Given the description of an element on the screen output the (x, y) to click on. 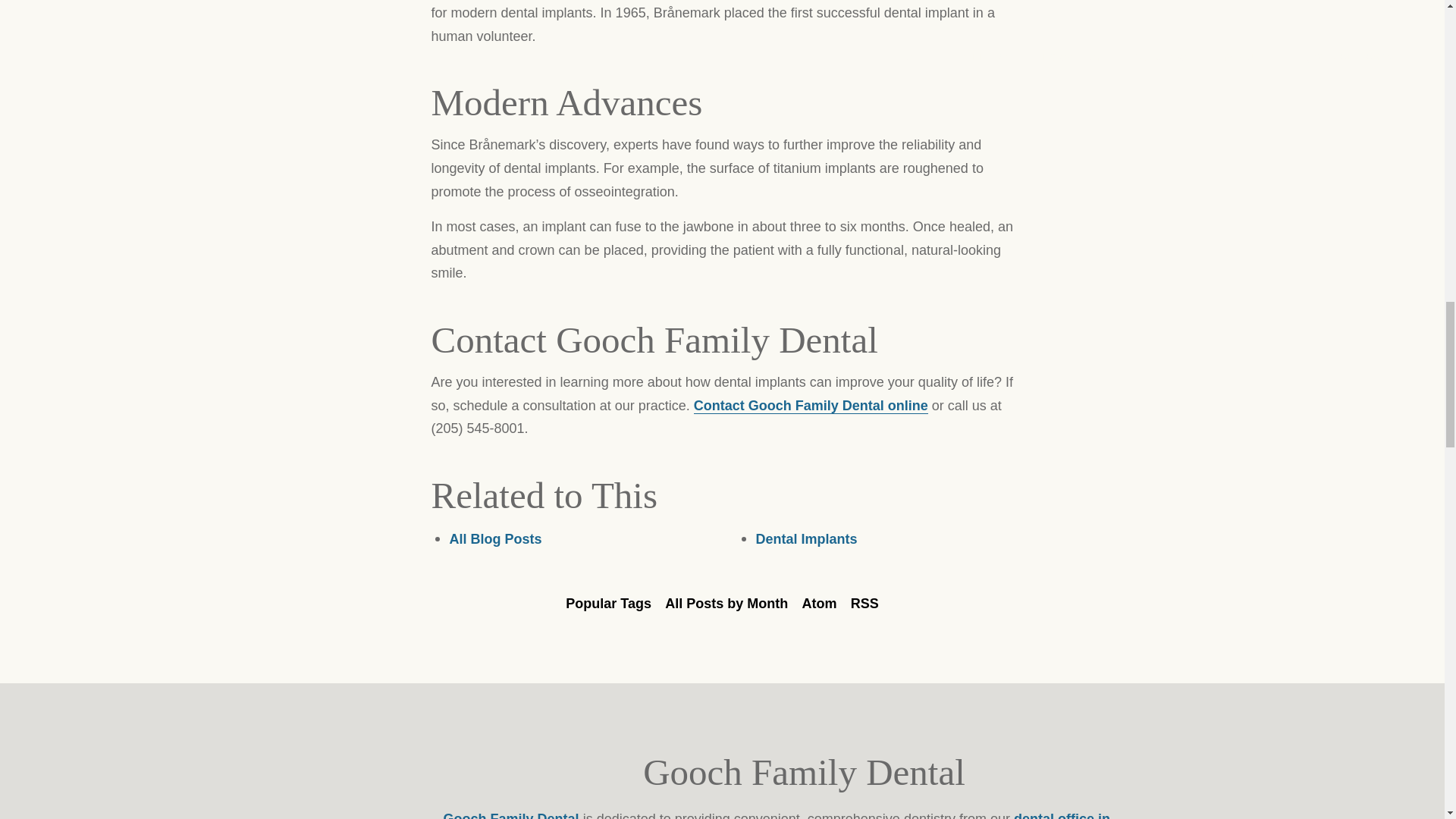
Contact Gooch Family Dental online (811, 406)
RSS (864, 603)
Dental Implants (806, 539)
All Posts by Month (726, 603)
Gooch Family Dental (511, 815)
Popular Tags (608, 603)
All Blog Posts (494, 539)
Atom (818, 603)
